Given the description of an element on the screen output the (x, y) to click on. 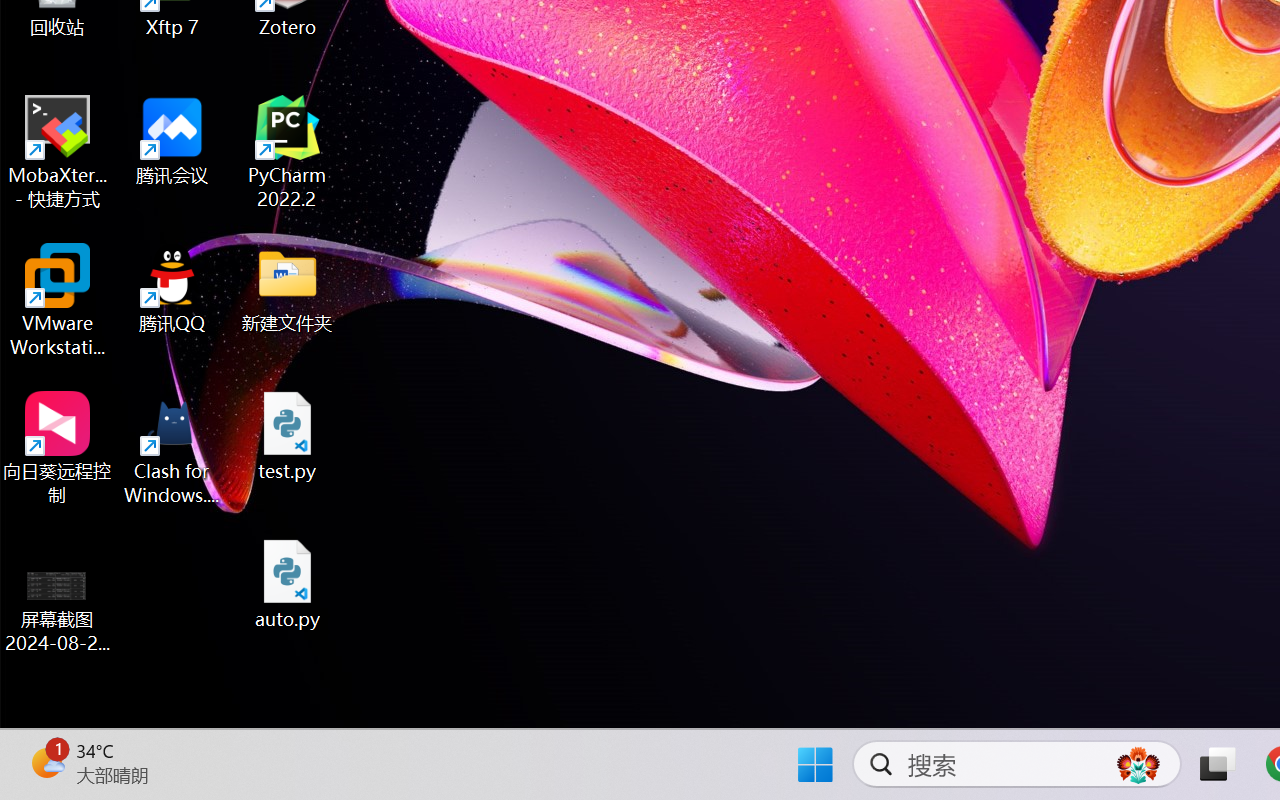
VMware Workstation Pro (57, 300)
